Given the description of an element on the screen output the (x, y) to click on. 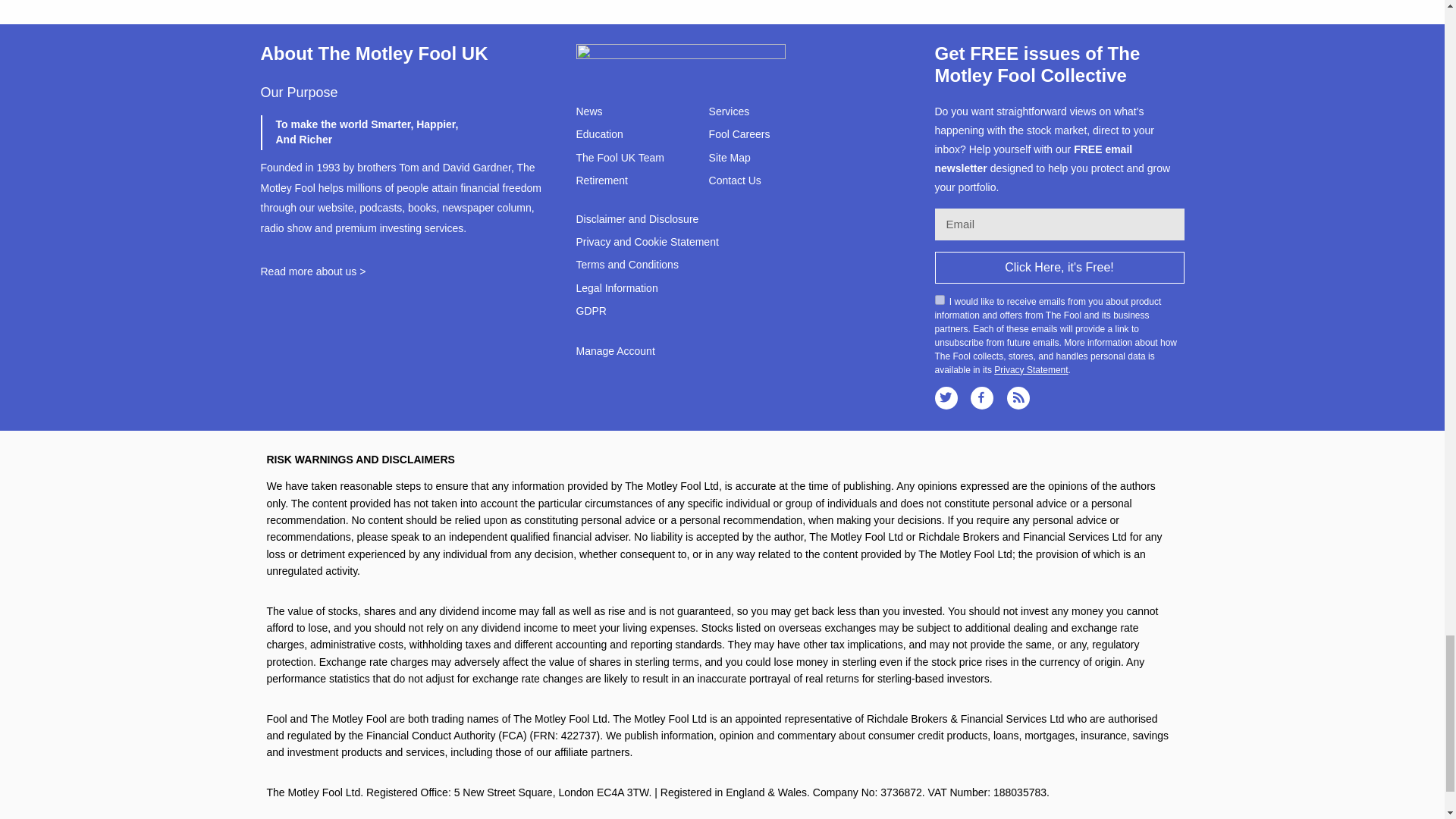
true (938, 298)
